Given the description of an element on the screen output the (x, y) to click on. 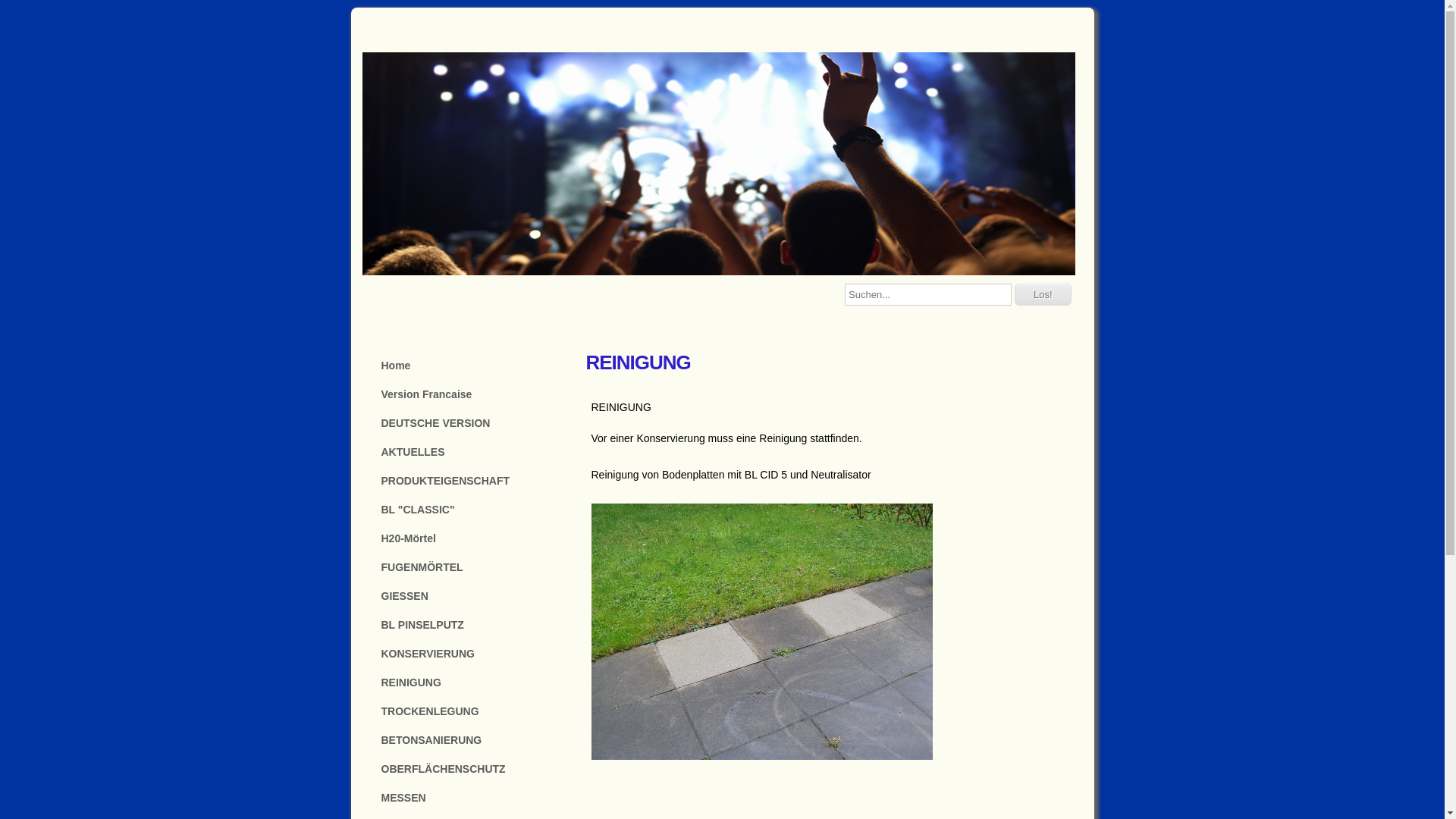
AKTUELLES Element type: text (471, 451)
BL PINSELPUTZ Element type: text (471, 624)
Version Francaise Element type: text (471, 394)
Home Element type: text (471, 365)
MESSEN Element type: text (471, 797)
DEUTSCHE VERSION Element type: text (471, 422)
BETONSANIERUNG Element type: text (471, 739)
REINIGUNG Element type: text (471, 682)
BL "CLASSIC" Element type: text (471, 509)
KONSERVIERUNG Element type: text (471, 653)
GIESSEN Element type: text (471, 595)
PRODUKTEIGENSCHAFT Element type: text (471, 480)
Los! Element type: text (1042, 294)
TROCKENLEGUNG Element type: text (471, 711)
